Given the description of an element on the screen output the (x, y) to click on. 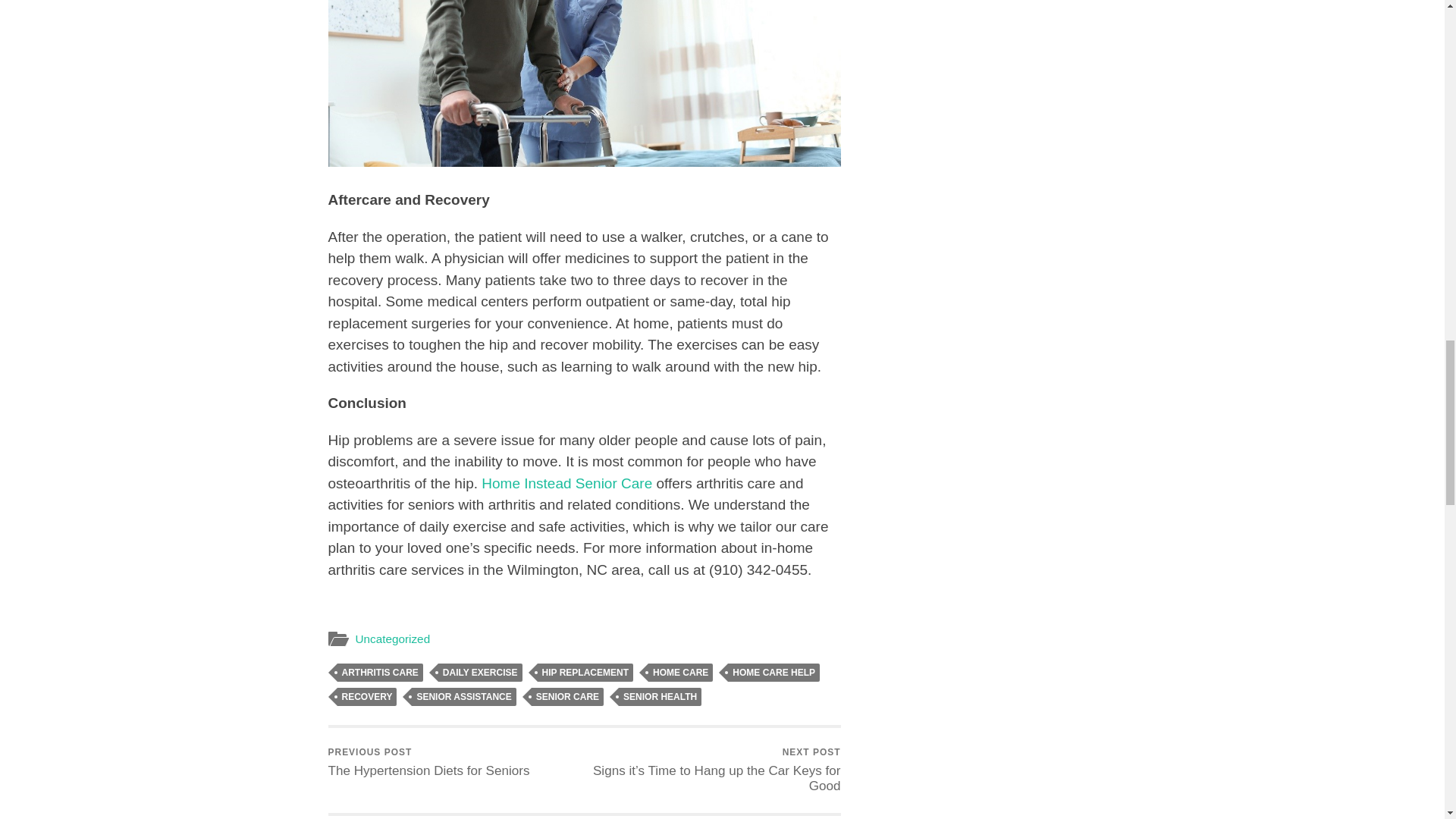
SENIOR HEALTH (659, 696)
SENIOR CARE (567, 696)
Uncategorized (392, 638)
HOME CARE (680, 672)
HOME CARE HELP (773, 672)
HIP REPLACEMENT (585, 672)
Home Instead Senior Care (566, 483)
SENIOR ASSISTANCE (463, 696)
RECOVERY (366, 696)
ARTHRITIS CARE (379, 672)
DAILY EXERCISE (480, 672)
